Given the description of an element on the screen output the (x, y) to click on. 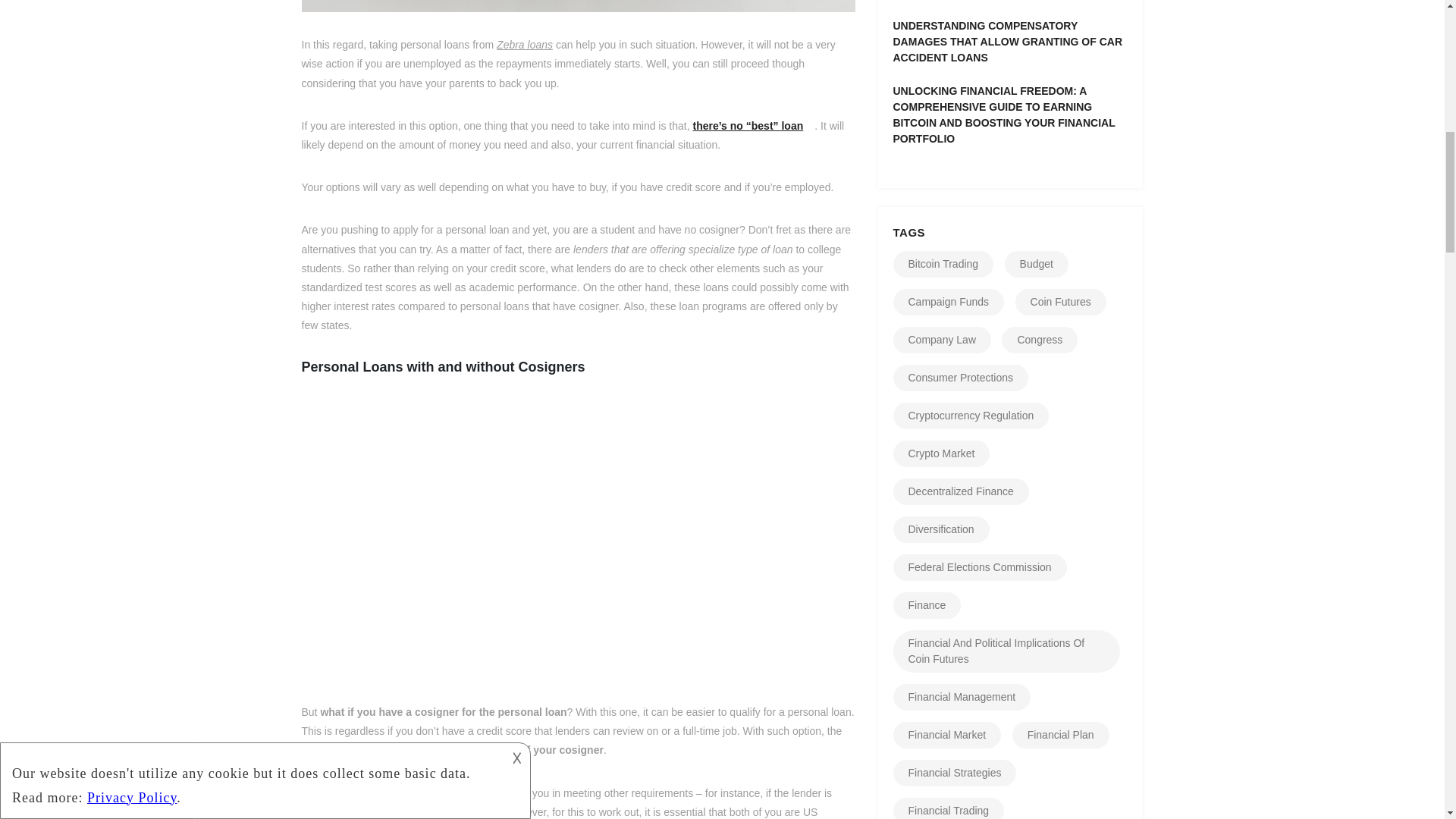
Federal Elections Commission (980, 567)
Cryptocurrency Regulation (971, 415)
Coin Futures (1060, 302)
Diversification (941, 529)
Campaign Funds (948, 302)
Company Law (942, 339)
Crypto Market (941, 453)
Consumer Protections (961, 377)
Bitcoin Trading (943, 263)
Decentralized Finance (961, 491)
Finance (926, 605)
